Given the description of an element on the screen output the (x, y) to click on. 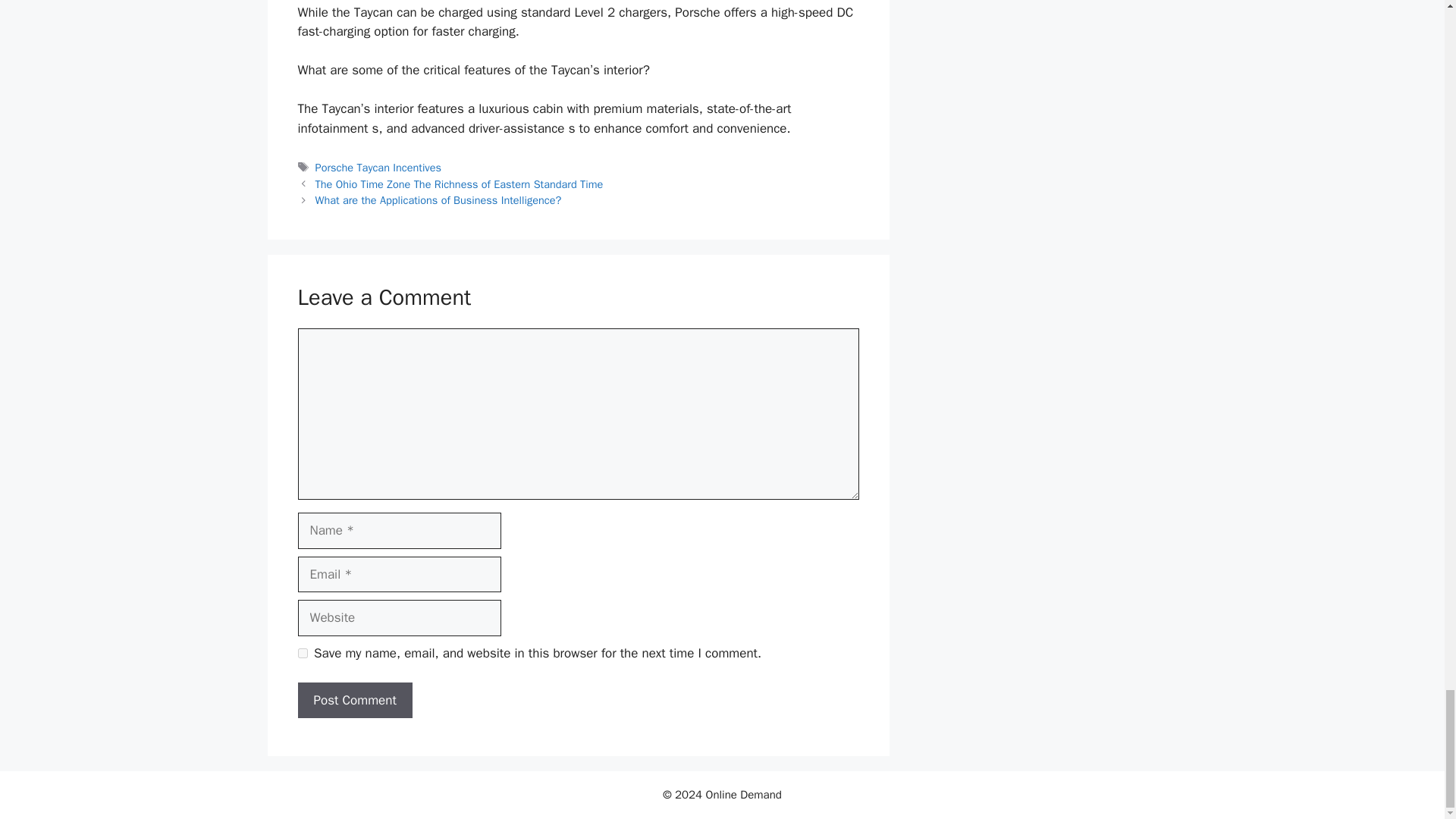
Post Comment (354, 700)
The Ohio Time Zone The Richness of Eastern Standard Time (459, 183)
Porsche Taycan Incentives (378, 167)
What are the Applications of Business Intelligence? (438, 200)
yes (302, 653)
Post Comment (354, 700)
